Given the description of an element on the screen output the (x, y) to click on. 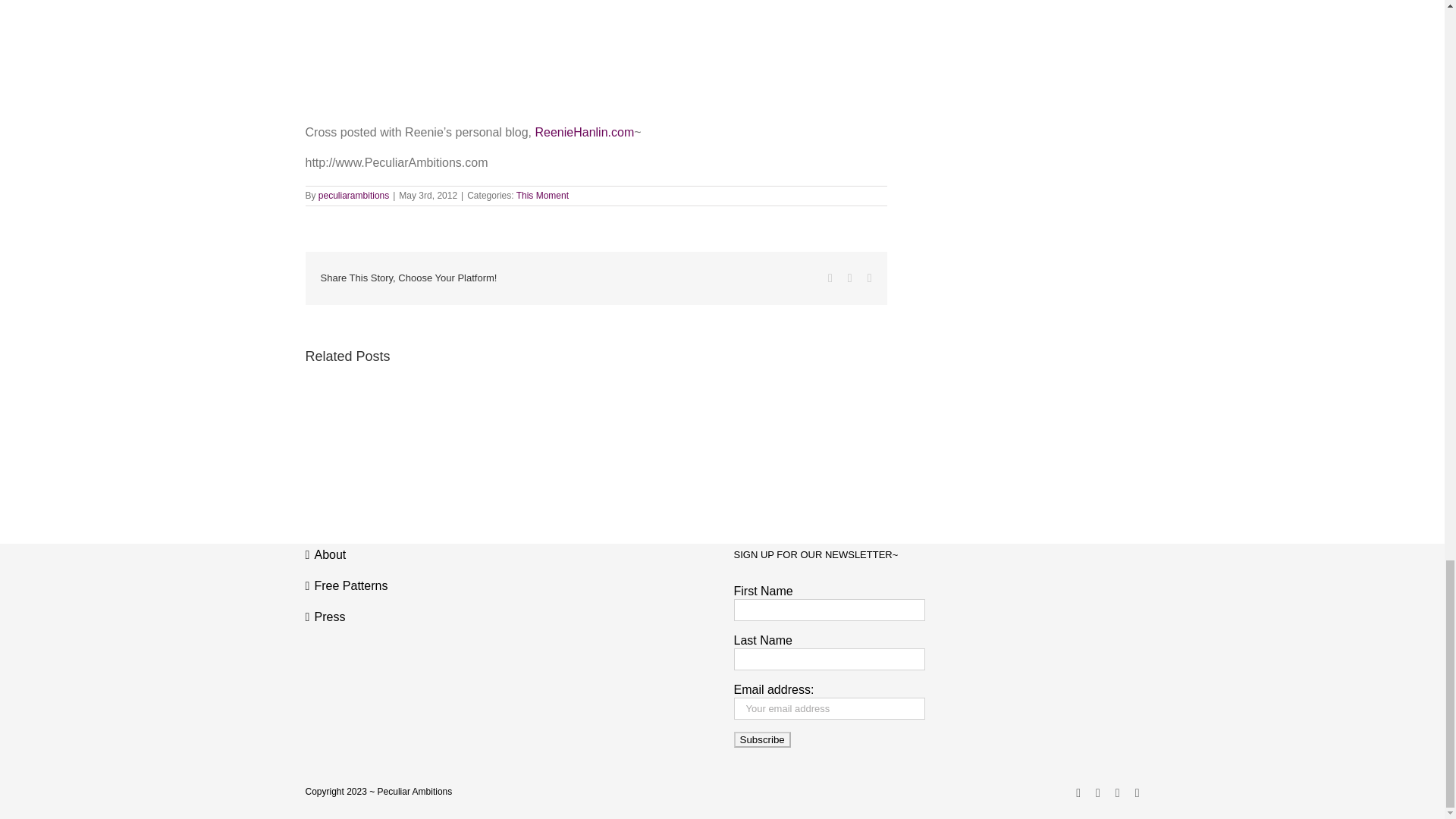
ReenieHanlin.com (583, 132)
This Moment (542, 195)
Posts by peculiarambitions (353, 195)
peculiarambitions (353, 195)
Subscribe (761, 739)
